Given the description of an element on the screen output the (x, y) to click on. 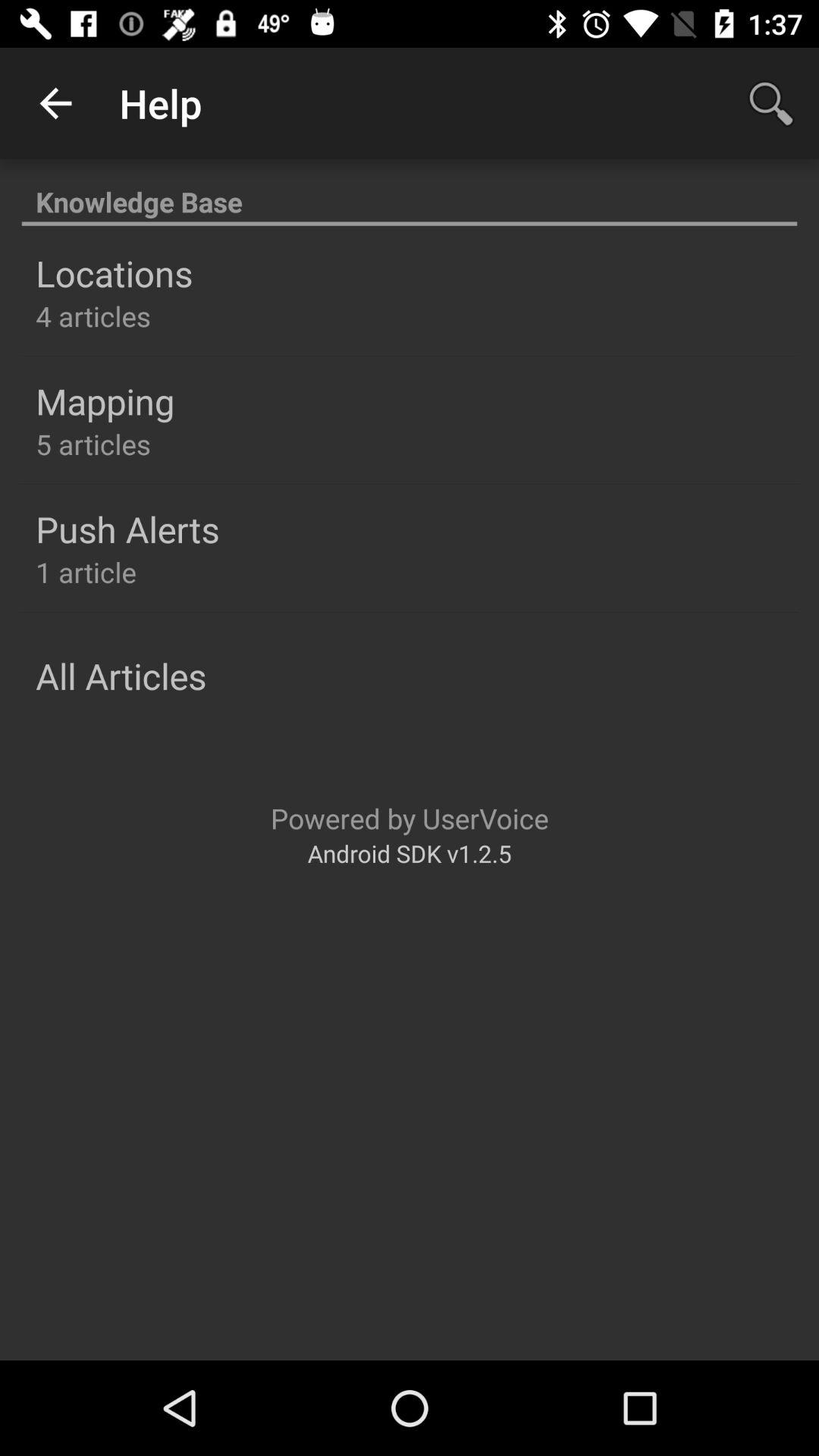
press the item to the left of help (55, 103)
